Given the description of an element on the screen output the (x, y) to click on. 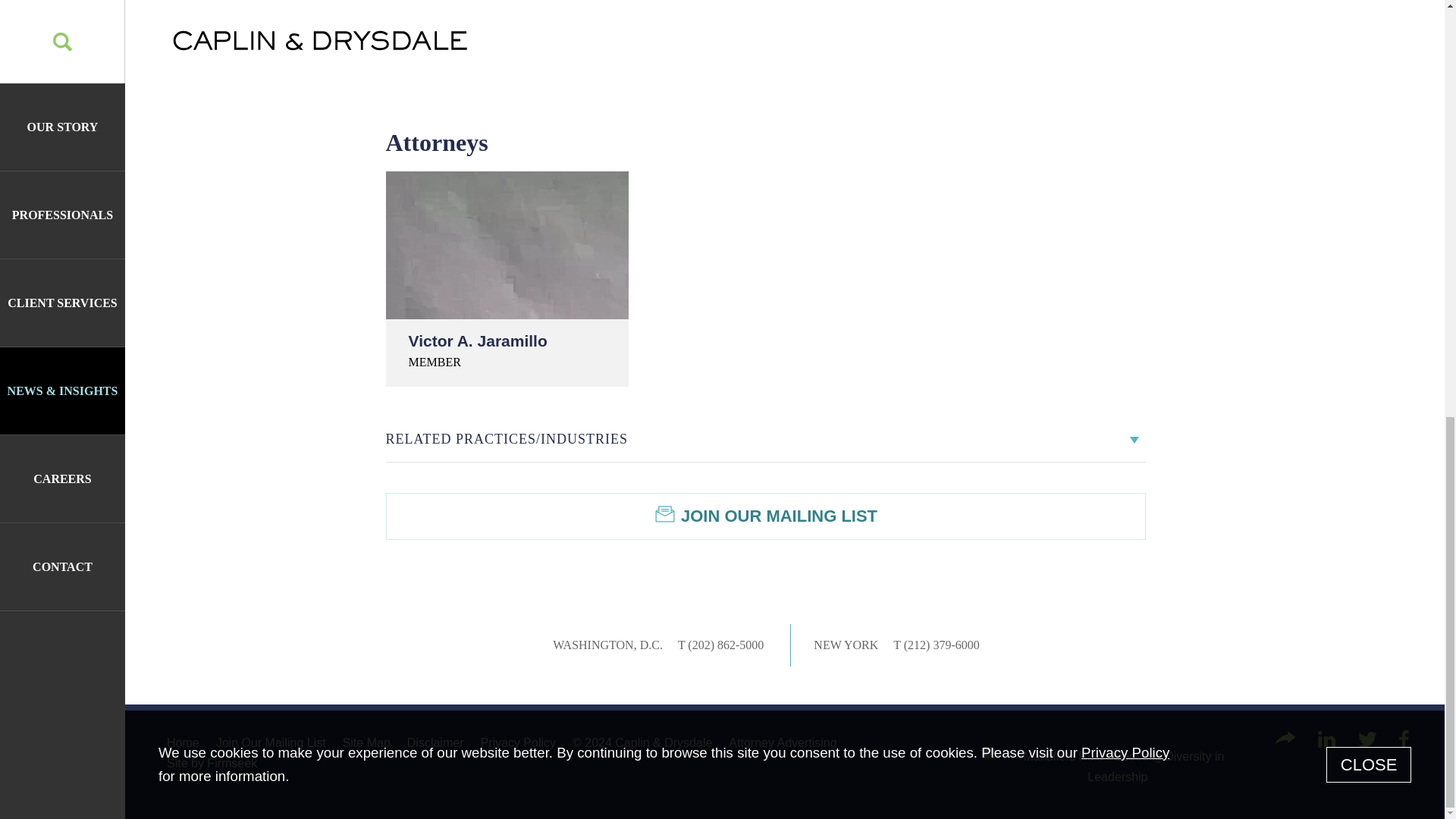
linkedin Icon (1326, 739)
twitter Icon (1367, 739)
Share (1285, 737)
